Given the description of an element on the screen output the (x, y) to click on. 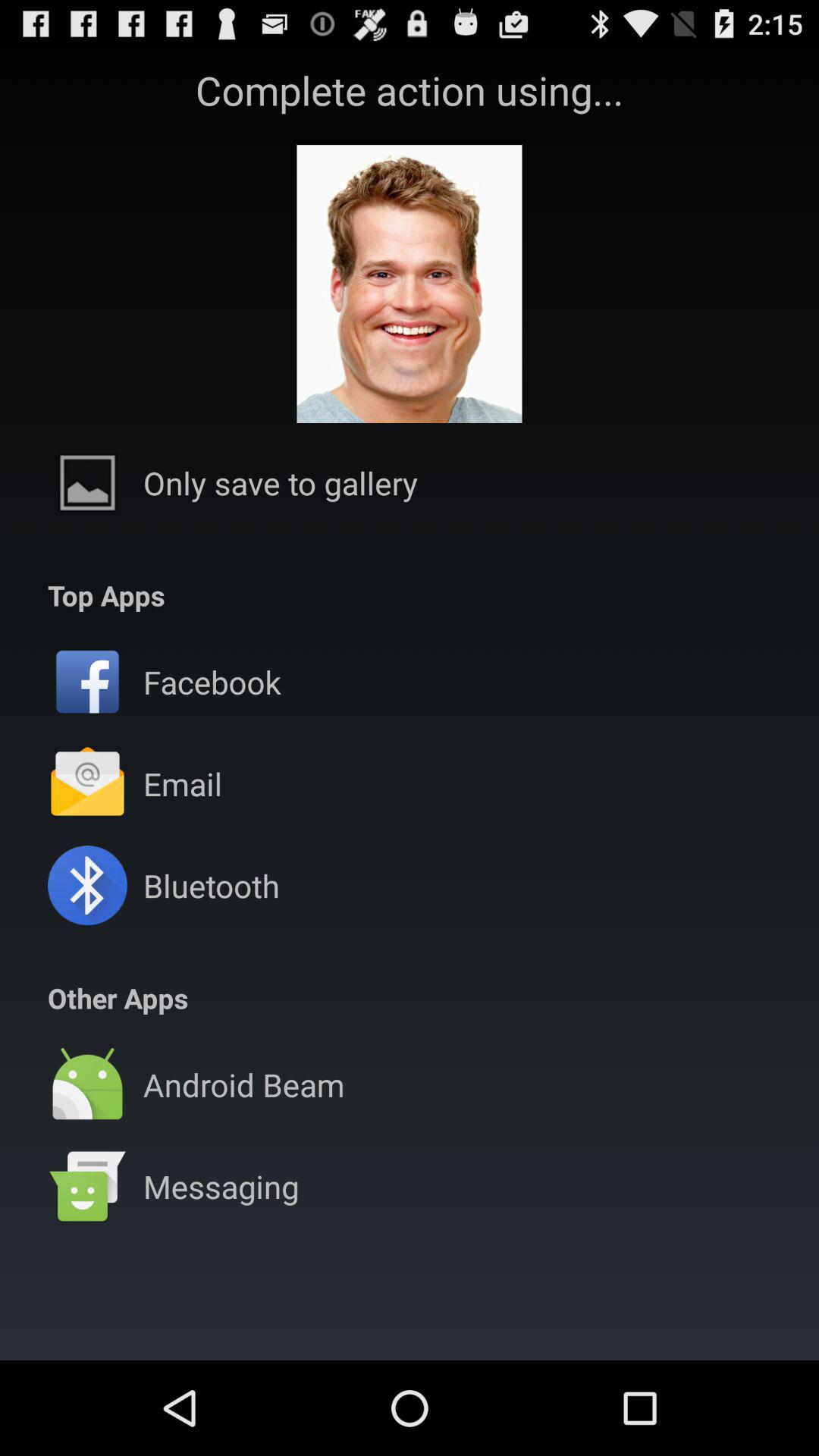
turn on the facebook app (211, 681)
